Given the description of an element on the screen output the (x, y) to click on. 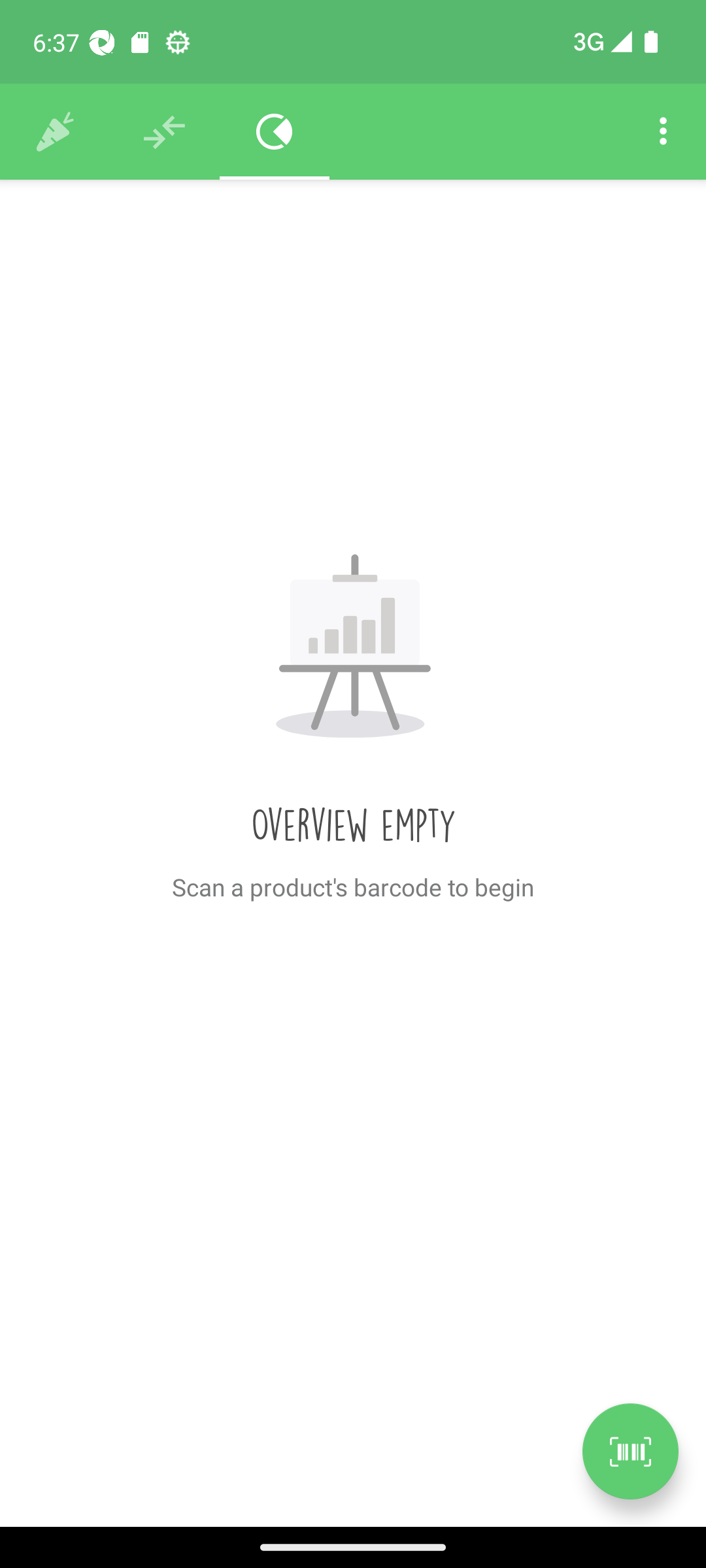
History (55, 131)
Recommendations (164, 131)
Settings (663, 131)
Scan a product (630, 1451)
